Given the description of an element on the screen output the (x, y) to click on. 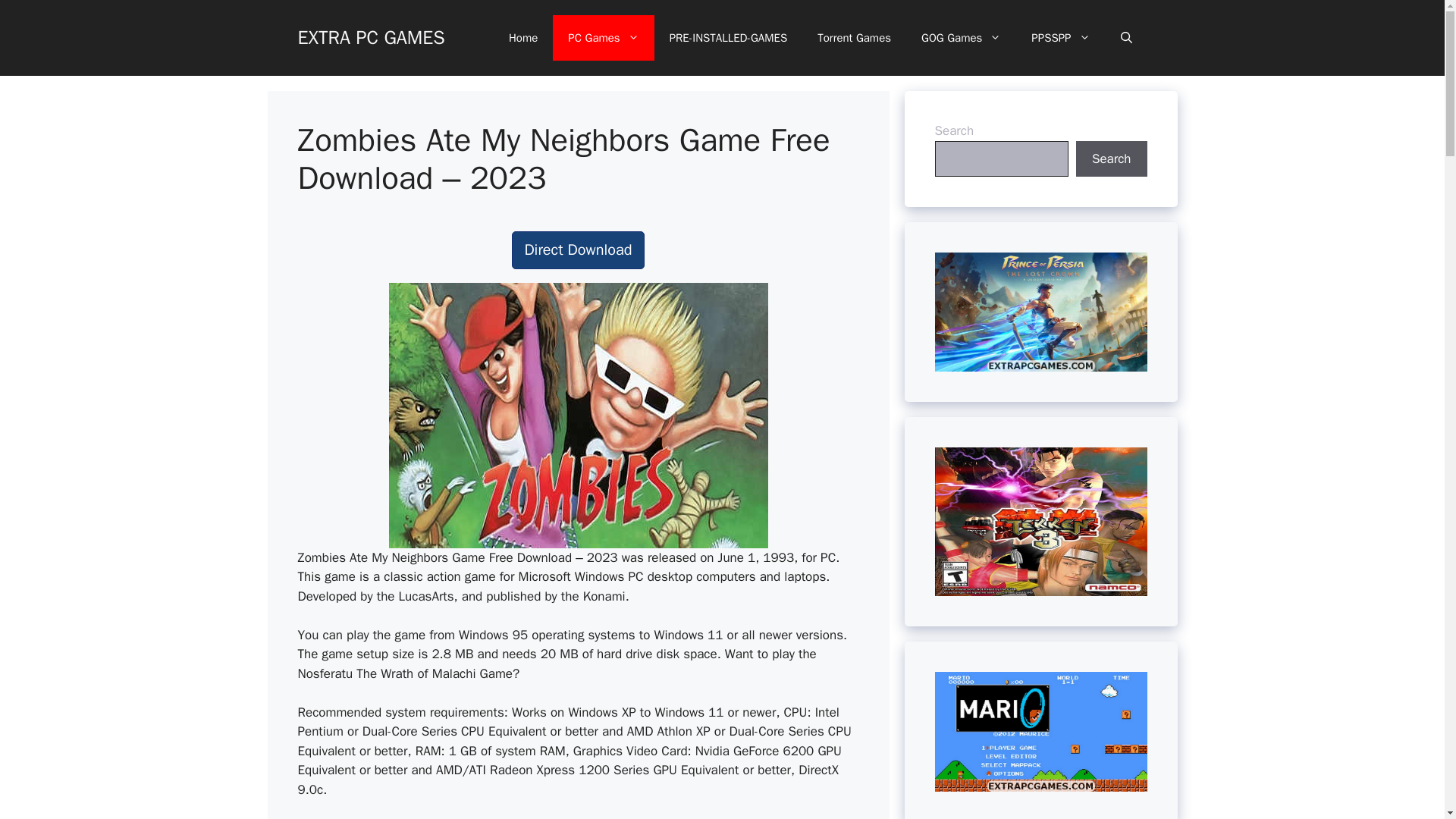
Torrent Games (853, 37)
Zombies Ate My Neighbors Game Free Download - 2023 1 (577, 414)
GOG Games (960, 37)
PRE-INSTALLED-GAMES (728, 37)
Home (523, 37)
EXTRA PC GAMES (370, 37)
PC Games (603, 37)
